Given the description of an element on the screen output the (x, y) to click on. 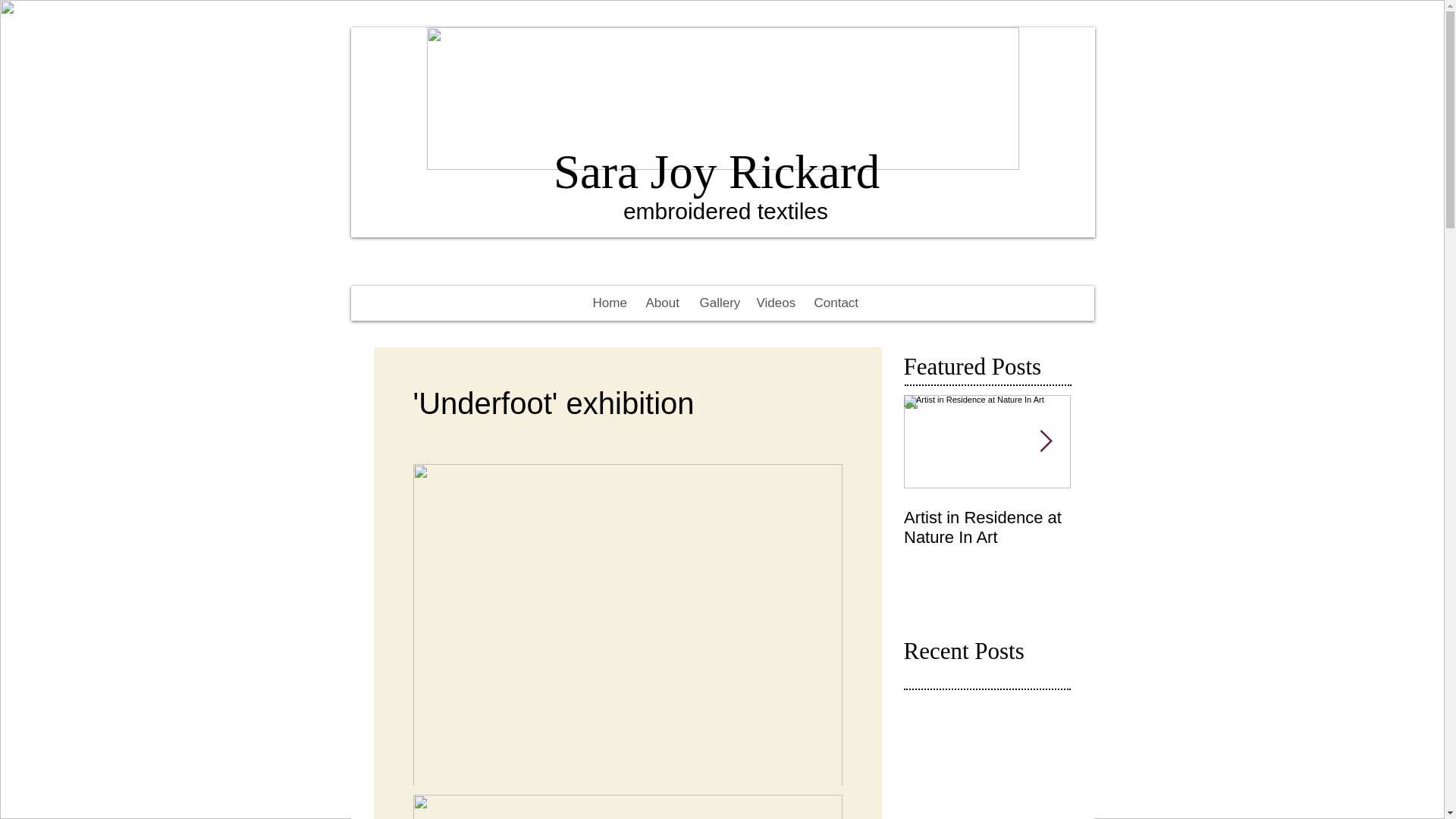
embroidered textiles (725, 211)
Contact (834, 302)
Home (606, 302)
Artist in Residence at Nature In Art (987, 527)
Videos (773, 302)
Sara Joy Rickard  (722, 172)
Gallery (716, 302)
About (660, 302)
